Given the description of an element on the screen output the (x, y) to click on. 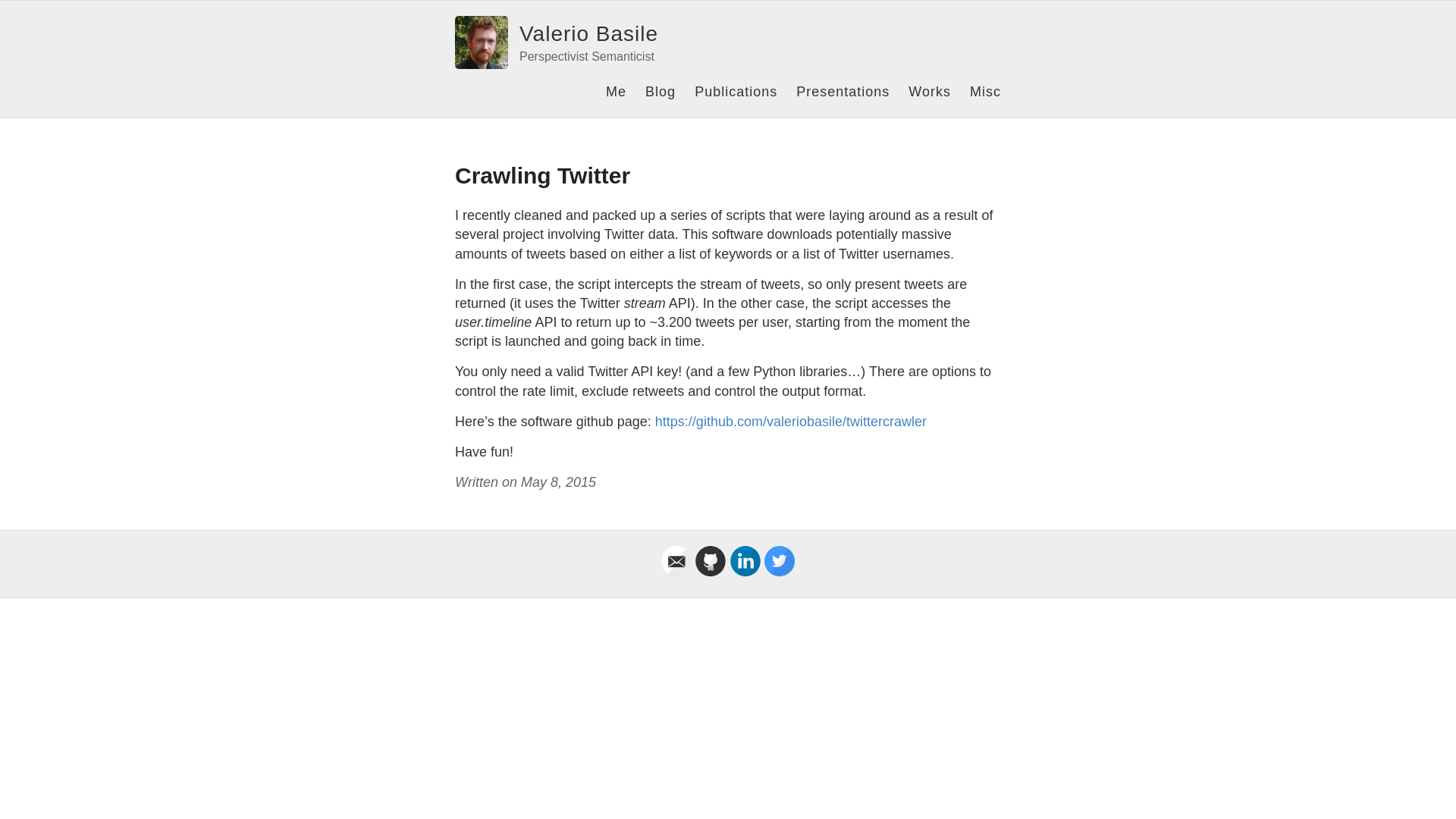
Blog (660, 91)
Presentations (842, 91)
Works (929, 91)
Misc (985, 91)
Me (615, 91)
Valerio Basile (588, 33)
Publications (735, 91)
